Given the description of an element on the screen output the (x, y) to click on. 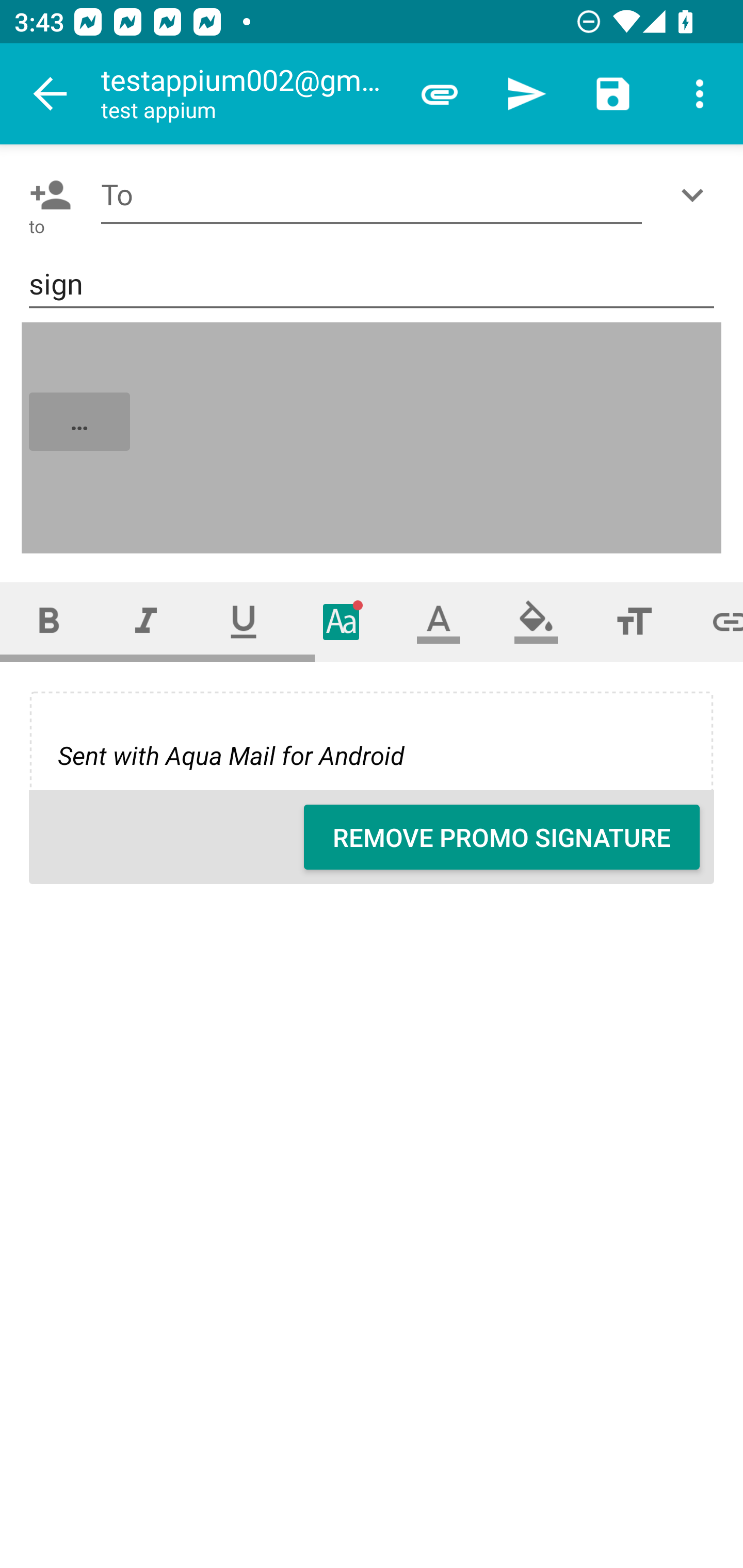
Navigate up (50, 93)
testappium002@gmail.com test appium (248, 93)
Attach (439, 93)
Send (525, 93)
Save (612, 93)
More options (699, 93)
Pick contact: To (46, 195)
Show/Add CC/BCC (696, 195)
To (371, 195)
sign (371, 284)

…
 (372, 438)
Bold (48, 621)
Italic (145, 621)
Underline (243, 621)
Typeface (font) (341, 621)
Text color (438, 621)
Fill color (536, 621)
Font size (633, 621)
REMOVE PROMO SIGNATURE (501, 837)
